Given the description of an element on the screen output the (x, y) to click on. 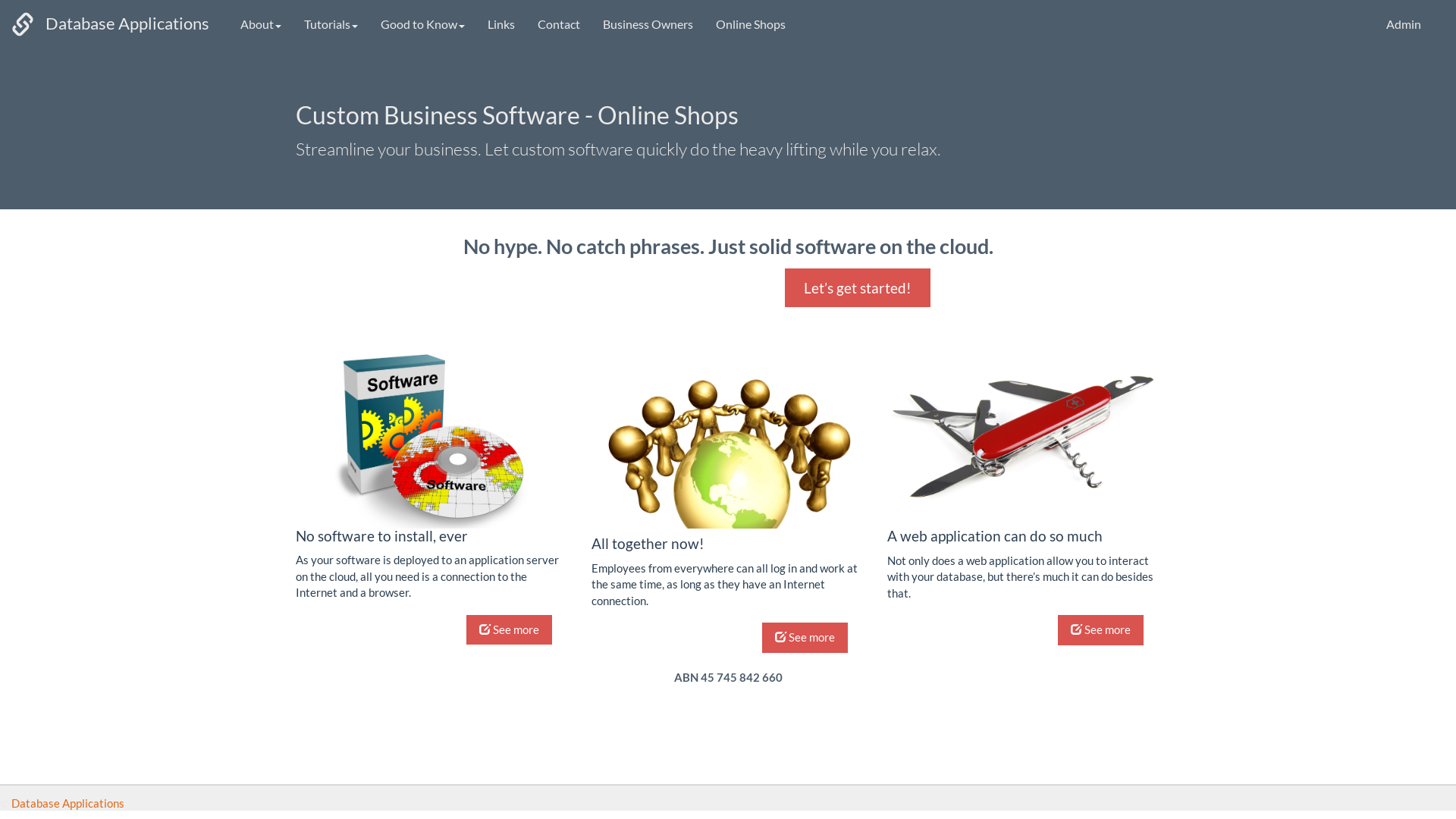
See more Element type: text (1099, 629)
Tutorials Element type: text (330, 24)
Online Shops Element type: text (750, 24)
Good to Know Element type: text (422, 24)
See more Element type: text (804, 637)
Database Applications Element type: text (67, 802)
Links Element type: text (501, 24)
About Element type: text (260, 24)
See more Element type: text (508, 629)
Admin Element type: text (1403, 24)
Contact Element type: text (558, 24)
Business Owners Element type: text (647, 24)
